Given the description of an element on the screen output the (x, y) to click on. 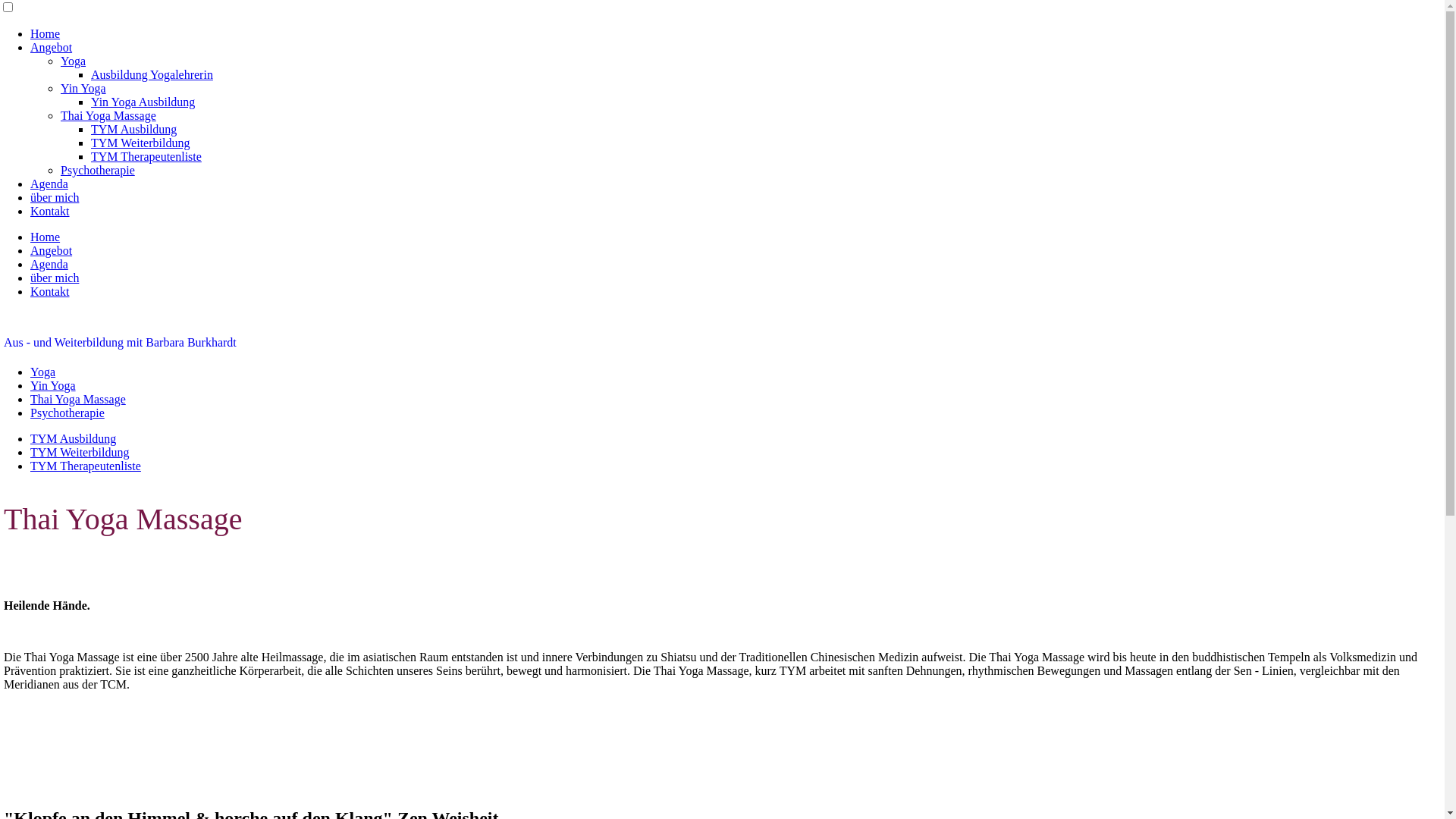
Yoga Element type: text (42, 371)
Yin Yoga Ausbildung Element type: text (142, 101)
Angebot Element type: text (51, 46)
Angebot Element type: text (51, 250)
Thai Yoga Massage Element type: text (108, 115)
Aus - und Weiterbildung mit Barbara Burkhardt Element type: text (721, 342)
Home Element type: text (44, 236)
Thai Yoga Massage Element type: text (77, 398)
Kontakt Element type: text (49, 291)
Yin Yoga Element type: text (52, 385)
Yin Yoga Element type: text (83, 87)
Home Element type: text (44, 33)
TYM Ausbildung Element type: text (133, 128)
TYM Weiterbildung Element type: text (79, 451)
Psychotherapie Element type: text (97, 169)
TYM Weiterbildung Element type: text (140, 142)
Agenda Element type: text (49, 263)
TYM Ausbildung Element type: text (73, 438)
Kontakt Element type: text (49, 210)
Agenda Element type: text (49, 183)
Yoga Element type: text (72, 60)
Psychotherapie Element type: text (67, 412)
Ausbildung Yogalehrerin Element type: text (152, 74)
TYM Therapeutenliste Element type: text (146, 156)
TYM Therapeutenliste Element type: text (85, 465)
